Given the description of an element on the screen output the (x, y) to click on. 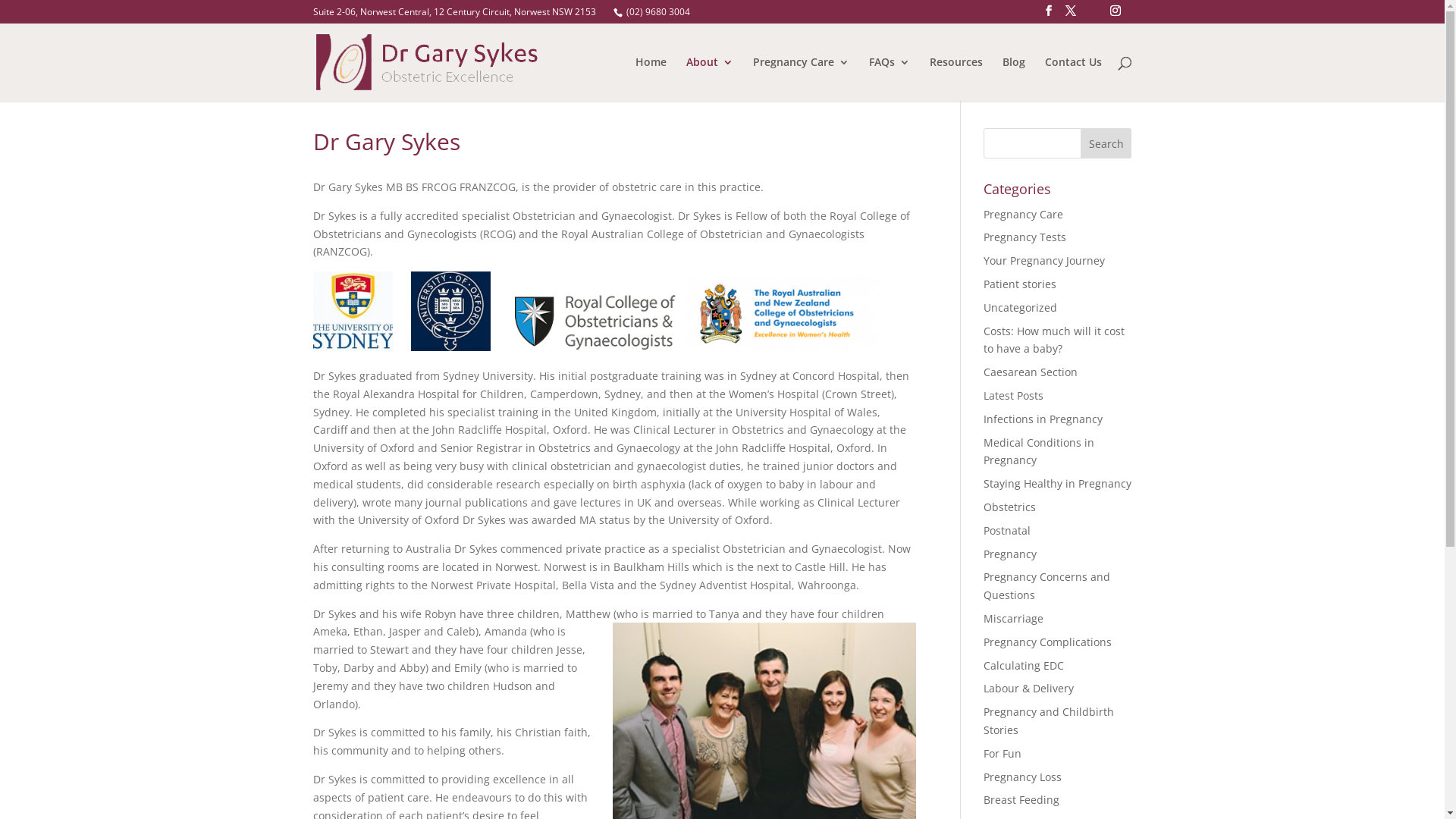
Pregnancy Complications Element type: text (1047, 641)
Staying Healthy in Pregnancy Element type: text (1057, 483)
Labour & Delivery Element type: text (1028, 687)
Miscarriage Element type: text (1013, 618)
(02) 9680 3004 Element type: text (658, 11)
Pregnancy Loss Element type: text (1022, 776)
Pregnancy Concerns and Questions Element type: text (1046, 585)
Patient stories Element type: text (1019, 283)
Resources Element type: text (955, 78)
Caesarean Section Element type: text (1030, 371)
Pregnancy and Childbirth Stories Element type: text (1048, 720)
Your Pregnancy Journey Element type: text (1043, 260)
Contact Us Element type: text (1072, 78)
Breast Feeding Element type: text (1021, 799)
Pregnancy Care Element type: text (800, 78)
Royal College of Obstetricians & Gynaecologists Element type: hover (599, 322)
Obstetrics Element type: text (1009, 506)
FAQs Element type: text (889, 78)
Search Element type: text (1106, 143)
Medical Conditions in Pregnancy Element type: text (1038, 451)
Calculating EDC Element type: text (1023, 665)
Blog Element type: text (1013, 78)
Latest Posts Element type: text (1013, 395)
About Element type: text (708, 78)
Costs: How much will it cost to have a baby? Element type: text (1053, 339)
University of Sydney Element type: hover (352, 311)
Pregnancy Tests Element type: text (1024, 236)
Pregnancy Care Element type: text (1023, 214)
Uncategorized Element type: text (1020, 307)
Infections in Pregnancy Element type: text (1042, 418)
Home Element type: text (650, 78)
University of Oxford Element type: hover (450, 311)
Postnatal Element type: text (1006, 530)
For Fun Element type: text (1002, 753)
Pregnancy Element type: text (1009, 553)
